Given the description of an element on the screen output the (x, y) to click on. 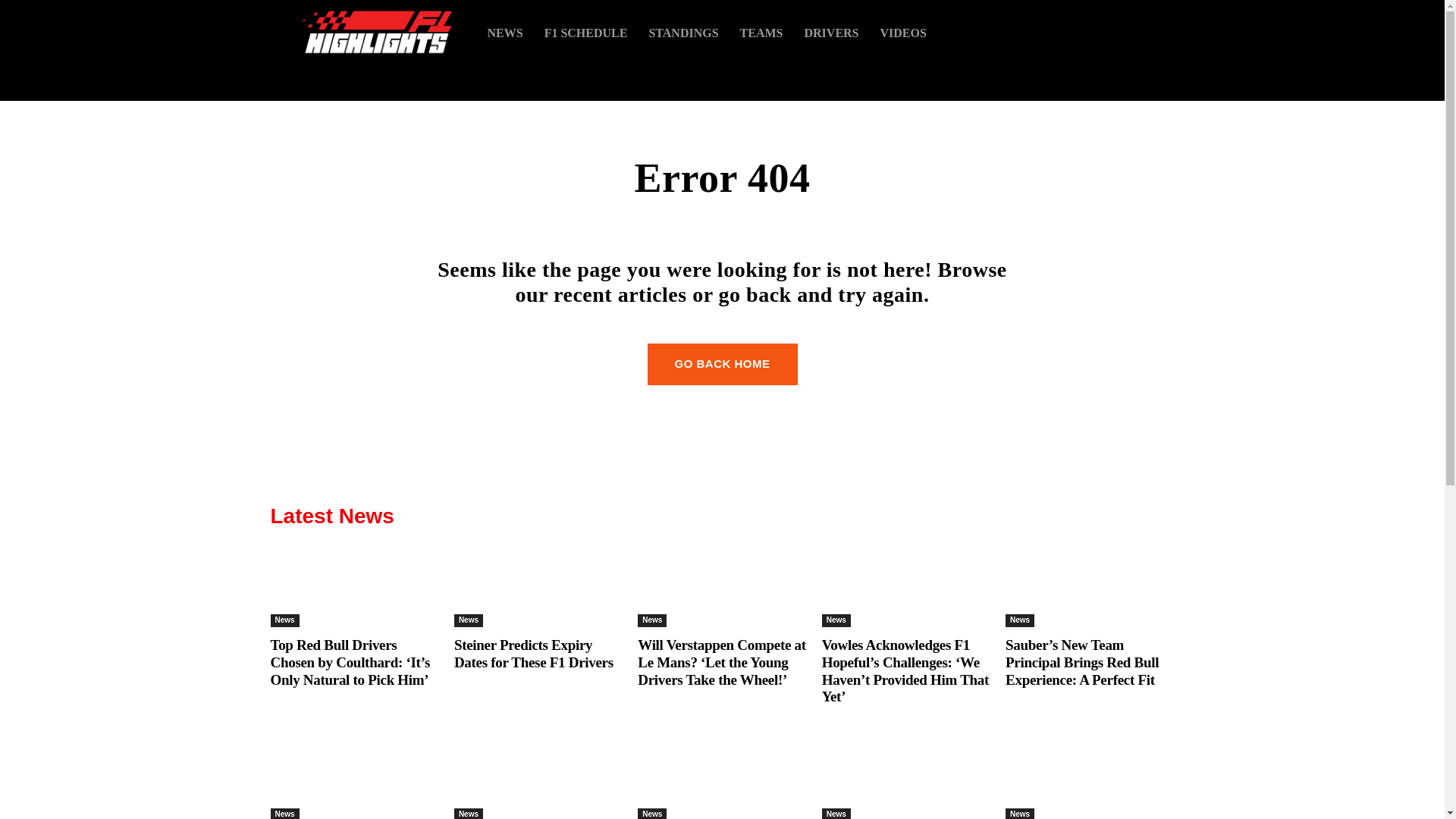
GO BACK HOME (722, 363)
F1 Racing Videos (903, 32)
DRIVERS (831, 32)
News (468, 620)
News (651, 620)
TEAMS (761, 32)
News (283, 620)
F1 Standings 2023 (683, 32)
F1 Drivers (831, 32)
News (1019, 620)
